Given the description of an element on the screen output the (x, y) to click on. 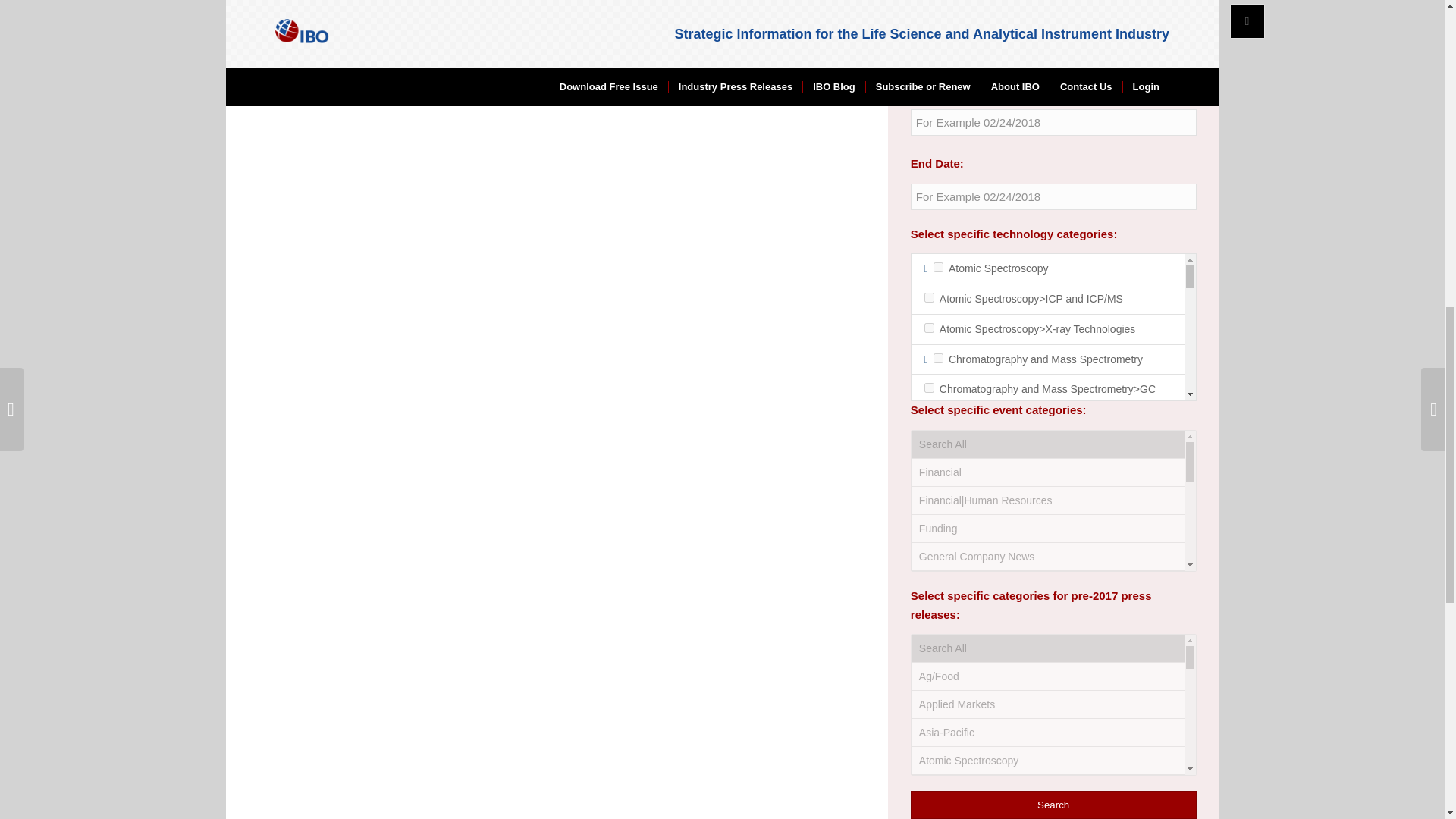
chromatography-and-mass-spectrometryother-chromatography (929, 546)
chromatography-and-mass-spectrometry (938, 357)
chromatography-and-mass-spectrometryroutine-ms (929, 594)
chromatography-and-mass-spectrometrygc (929, 388)
general-laboratory-products (938, 692)
atomic-spectroscopyx-ray-technologies (929, 327)
chromatography-and-mass-spectrometrylc (929, 515)
general-laboratory-productsconsumables (929, 723)
atomic-spectroscopy (938, 266)
atomic-spectroscopyicp-and-icp-ms (929, 297)
